Given the description of an element on the screen output the (x, y) to click on. 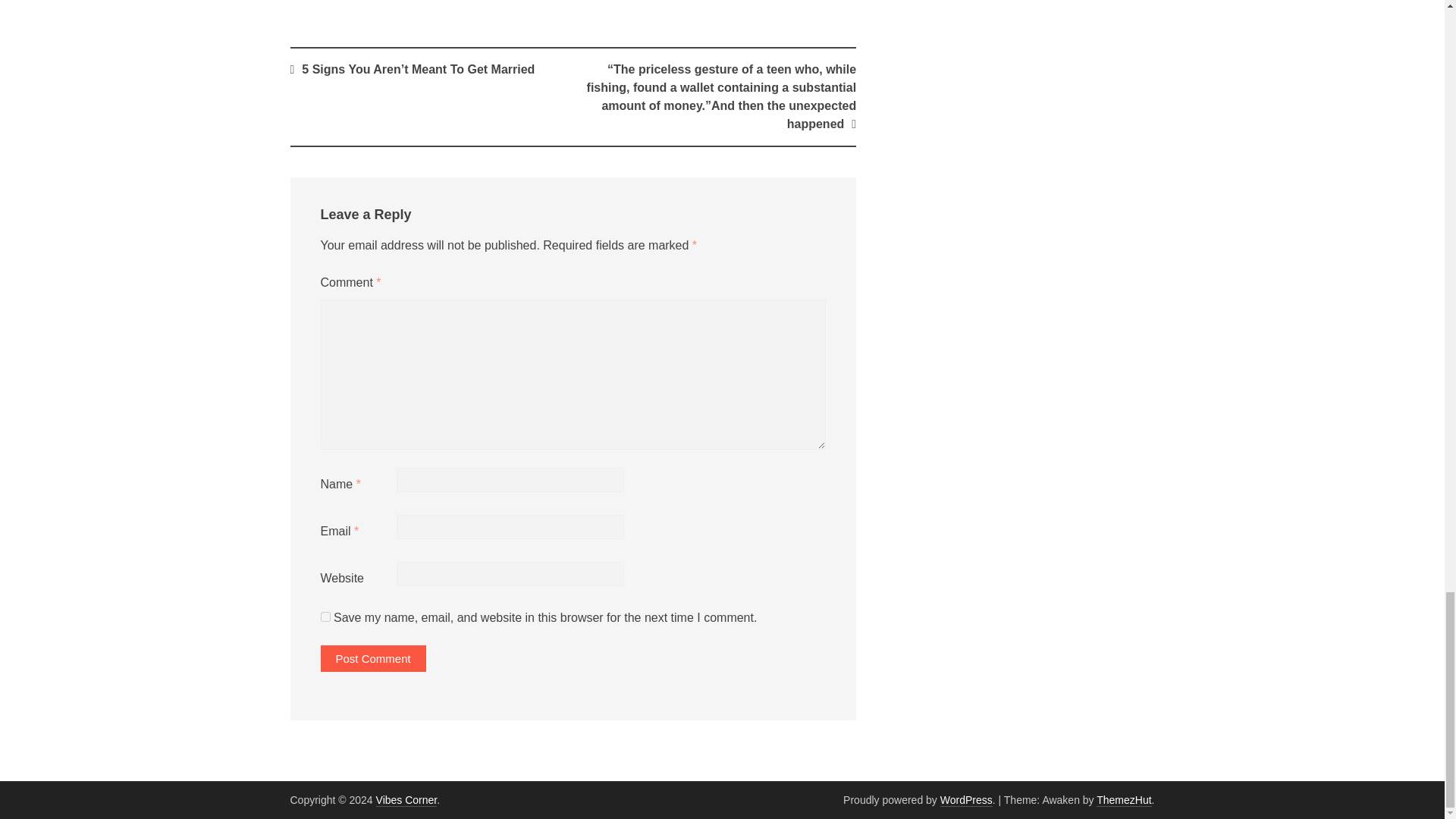
WordPress (966, 799)
Vibes Corner (406, 799)
yes (325, 616)
Post Comment (372, 658)
ThemezHut (1123, 799)
Post Comment (372, 658)
Vibes Corner (406, 799)
WordPress (966, 799)
